Given the description of an element on the screen output the (x, y) to click on. 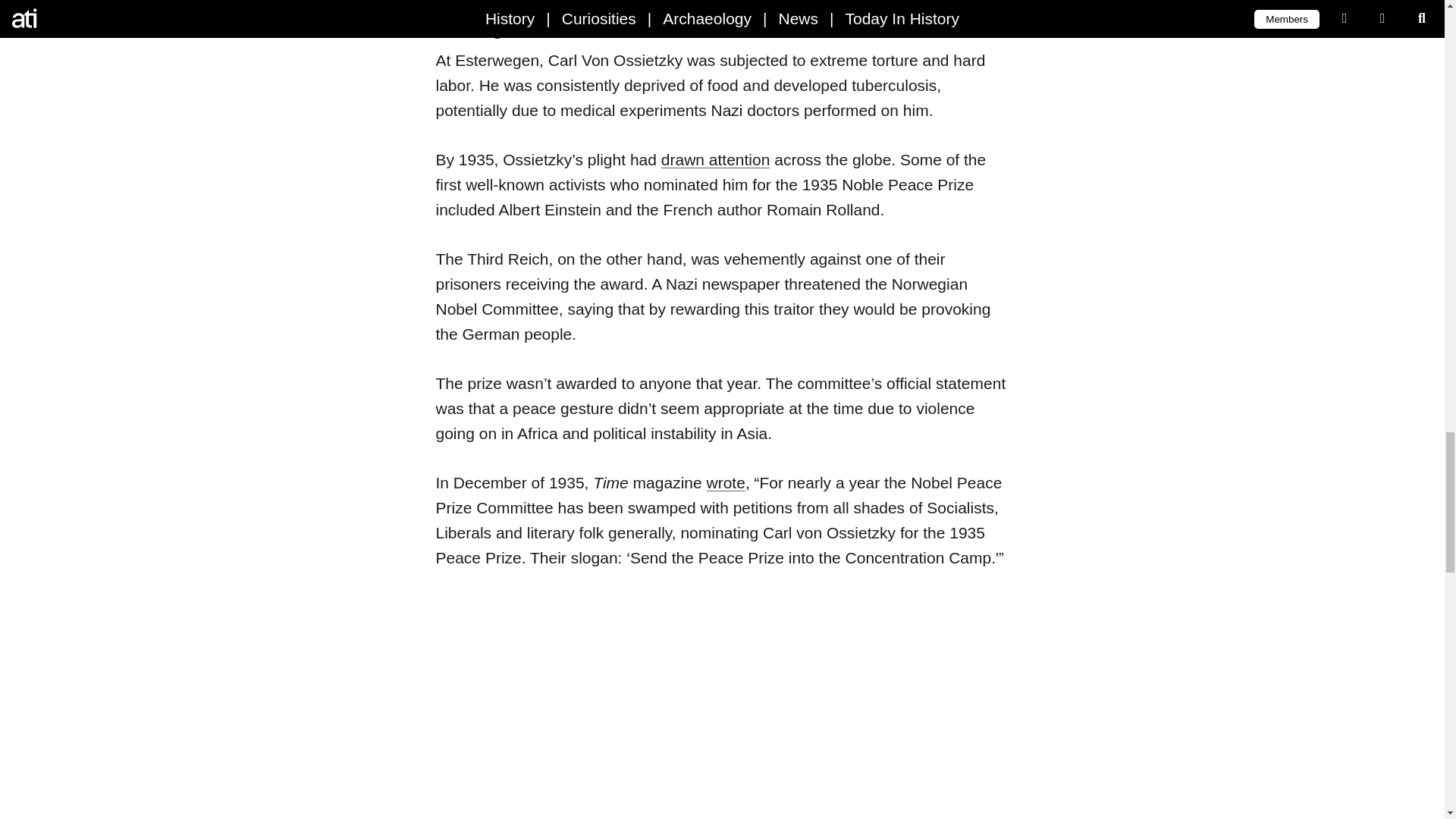
drawn attention (715, 159)
wrote (725, 482)
